Given the description of an element on the screen output the (x, y) to click on. 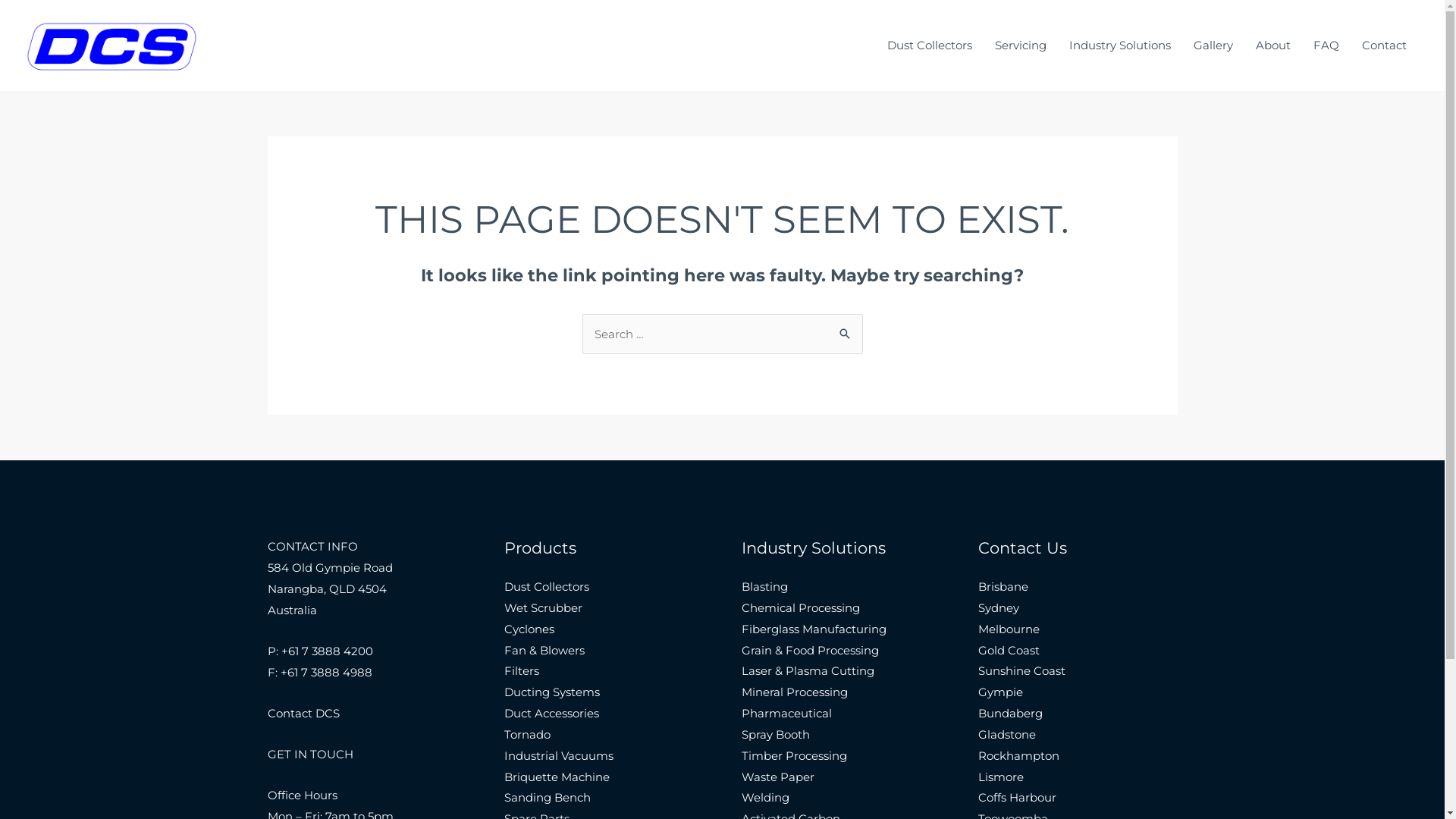
Dust Collectors Element type: text (929, 45)
Duct Accessories Element type: text (551, 713)
Gympie Element type: text (1000, 691)
About Element type: text (1273, 45)
Coffs Harbour Element type: text (1017, 797)
Sanding Bench Element type: text (547, 797)
Rockhampton Element type: text (1018, 755)
Grain & Food Processing Element type: text (809, 650)
Waste Paper Element type: text (777, 776)
FAQ Element type: text (1326, 45)
+61 7 3888 4200 Element type: text (326, 650)
Gladstone Element type: text (1006, 734)
Brisbane Element type: text (1003, 586)
Bundaberg Element type: text (1010, 713)
Mineral Processing Element type: text (794, 691)
Fiberglass Manufacturing Element type: text (813, 628)
Welding Element type: text (765, 797)
Contact Element type: text (1384, 45)
Sydney Element type: text (998, 607)
Tornado Element type: text (527, 734)
Search Element type: text (845, 329)
Briquette Machine Element type: text (556, 776)
Gold Coast Element type: text (1008, 650)
Filters Element type: text (521, 670)
Pharmaceutical Element type: text (786, 713)
Gallery Element type: text (1213, 45)
Chemical Processing Element type: text (800, 607)
Timber Processing Element type: text (794, 755)
Cyclones Element type: text (529, 628)
Ducting Systems Element type: text (551, 691)
Wet Scrubber Element type: text (543, 607)
Lismore Element type: text (1000, 776)
Servicing Element type: text (1020, 45)
Industry Solutions Element type: text (1119, 45)
Laser & Plasma Cutting Element type: text (807, 670)
Fan & Blowers Element type: text (544, 650)
Sunshine Coast Element type: text (1021, 670)
Blasting Element type: text (764, 586)
Industrial Vacuums Element type: text (558, 755)
Contact DCS Element type: text (302, 713)
Spray Booth Element type: text (775, 734)
Melbourne Element type: text (1008, 628)
Dust Collectors Element type: text (546, 586)
